Given the description of an element on the screen output the (x, y) to click on. 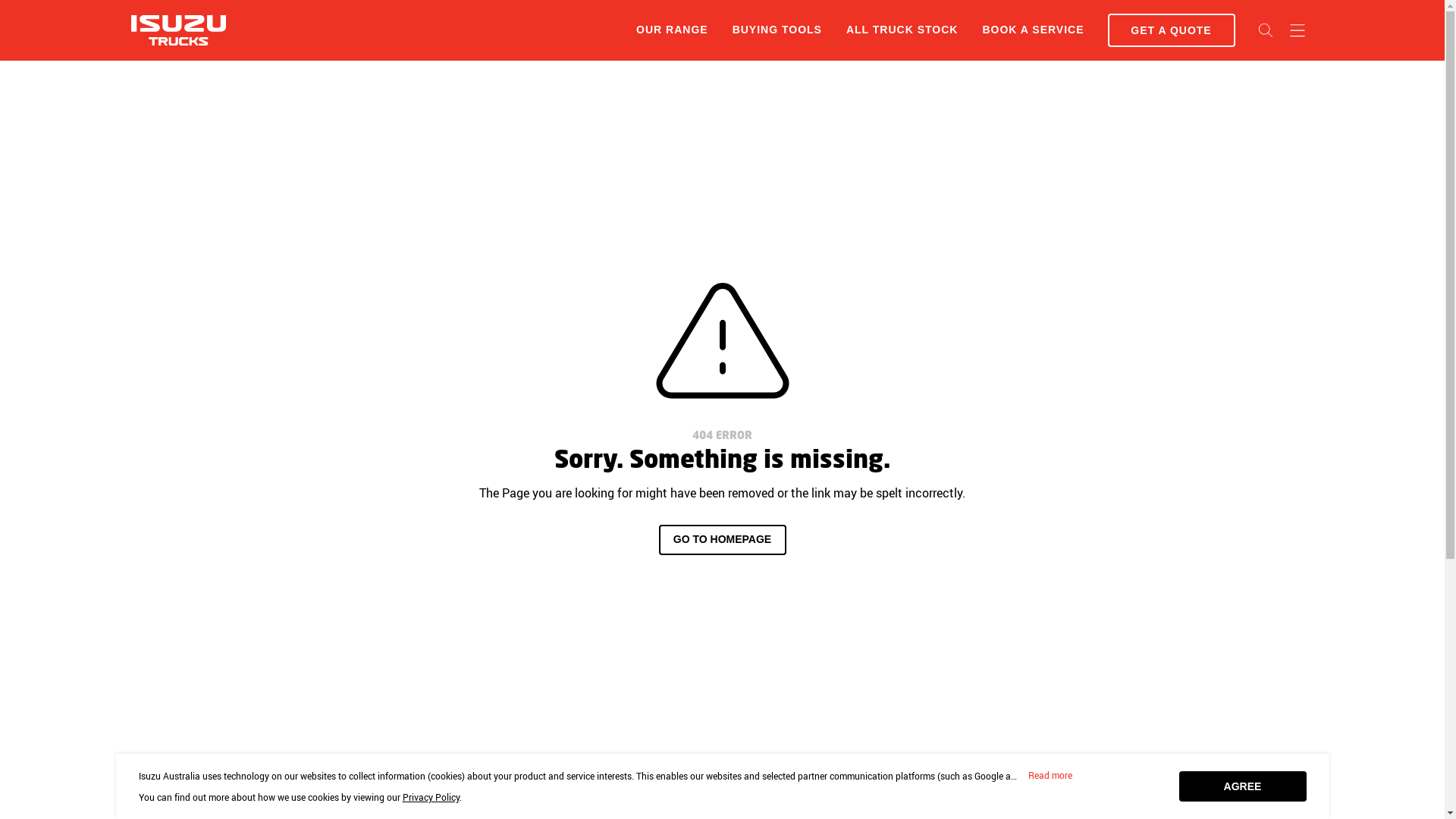
GET A QUOTE Element type: text (1170, 30)
AGREE Element type: text (1241, 786)
BOOK A SERVICE Element type: text (1032, 30)
BUYING TOOLS Element type: text (777, 30)
OUR RANGE Element type: text (672, 29)
ALL TRUCK STOCK Element type: text (901, 30)
Privacy Policy Element type: text (429, 796)
Read more Element type: text (1049, 775)
GO TO HOMEPAGE Element type: text (721, 539)
